Given the description of an element on the screen output the (x, y) to click on. 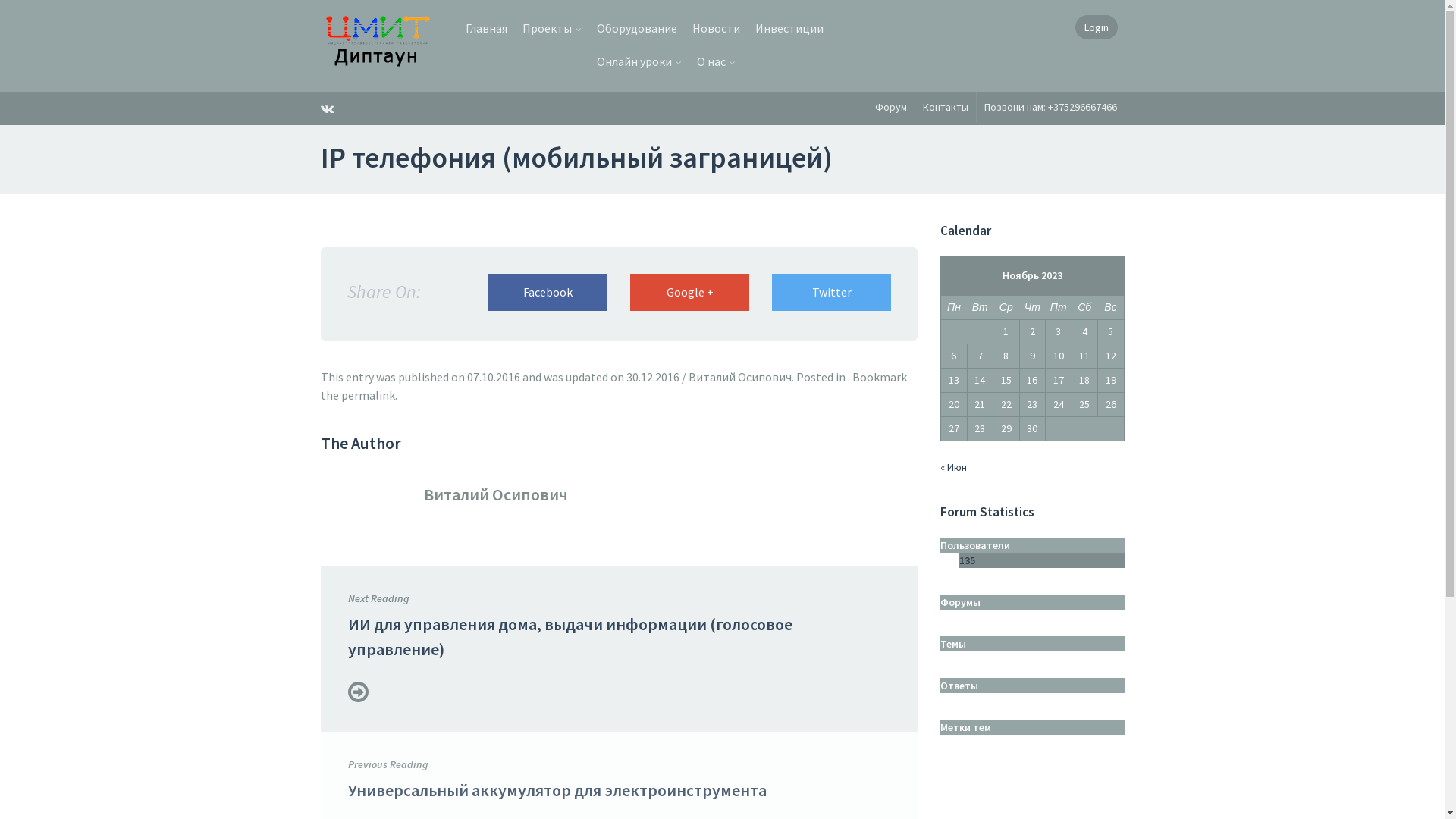
Login Element type: text (1096, 27)
07.10.2016 and was updated on 30.12.2016 Element type: text (573, 376)
Twitter Element type: text (831, 291)
Google + Element type: text (689, 291)
Vk.com Element type: hover (330, 108)
permalink Element type: text (368, 394)
Facebook Element type: text (547, 291)
